Given the description of an element on the screen output the (x, y) to click on. 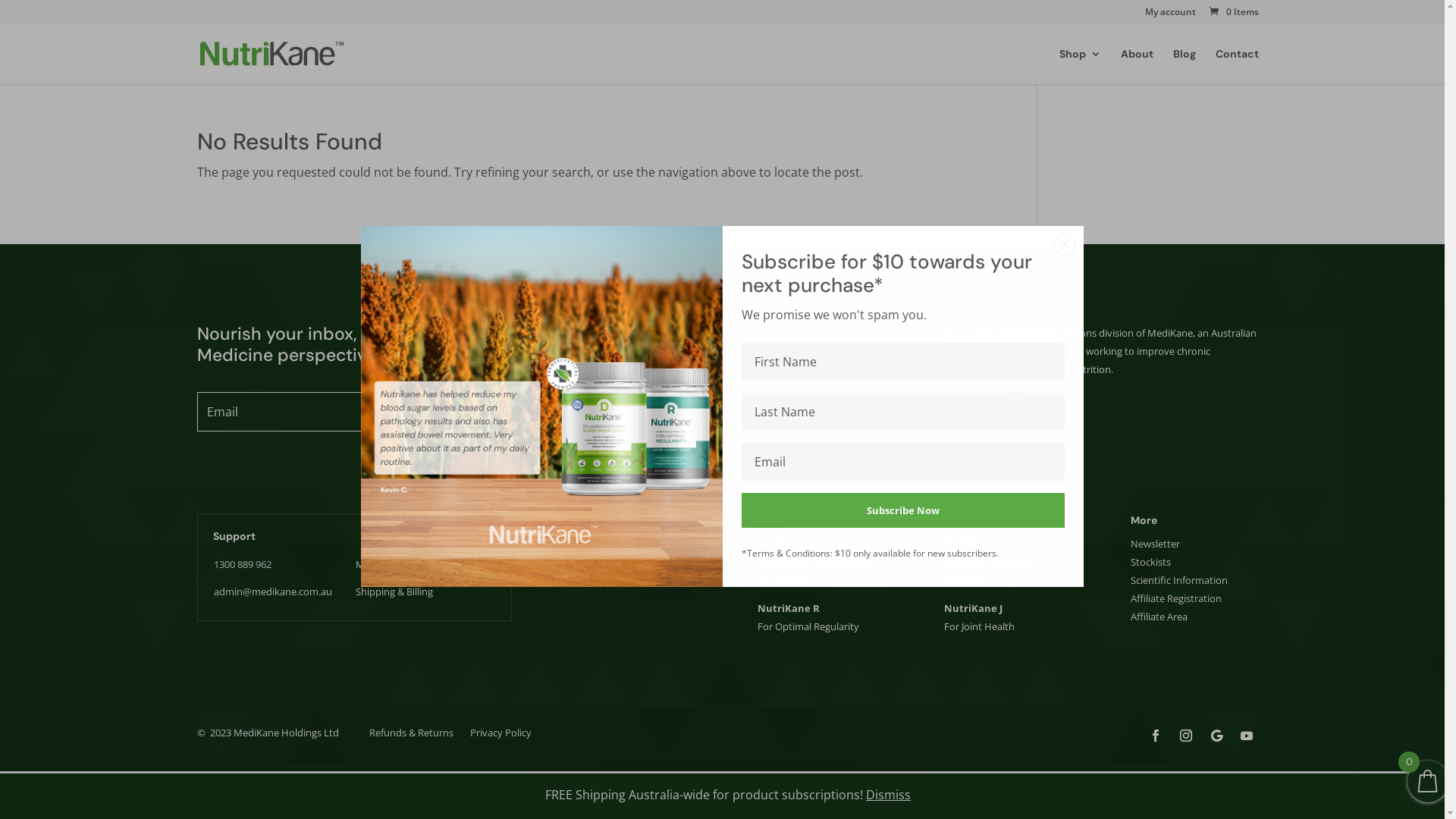
Sign Up Element type: text (475, 411)
1300 889 962 Element type: text (242, 564)
Affiliate Registration Element type: text (1175, 598)
NutriKane J Element type: text (973, 608)
My Account Element type: text (381, 564)
Stockists Element type: text (1150, 561)
Scientific Information Element type: text (1178, 579)
Follow on Instagram Element type: hover (1185, 735)
Pop-up Image Square Element type: hover (540, 405)
Dismiss Element type: text (888, 794)
About Element type: text (1136, 66)
NutriKane R Element type: text (787, 608)
Newsletter Element type: text (1154, 543)
Refunds & Returns Element type: text (411, 735)
Affiliate Area Element type: text (1158, 616)
Blog Element type: text (1184, 66)
My account Element type: text (1170, 15)
Shop Element type: text (1080, 66)
NutriKane I Element type: text (973, 543)
Subscribe Now Element type: text (902, 509)
Privacy Policy Element type: text (500, 735)
Shipping & Billing Element type: text (393, 591)
Visit MediKane Element type: text (999, 395)
NutriKane D Element type: text (787, 543)
Follow on Facebook Element type: hover (1155, 735)
Contact Element type: text (1236, 66)
Follow on Youtube Element type: hover (1246, 735)
Follow on Google Element type: hover (1216, 735)
0 Items Element type: text (1232, 11)
admin@medikane.com.au Element type: text (272, 591)
